Given the description of an element on the screen output the (x, y) to click on. 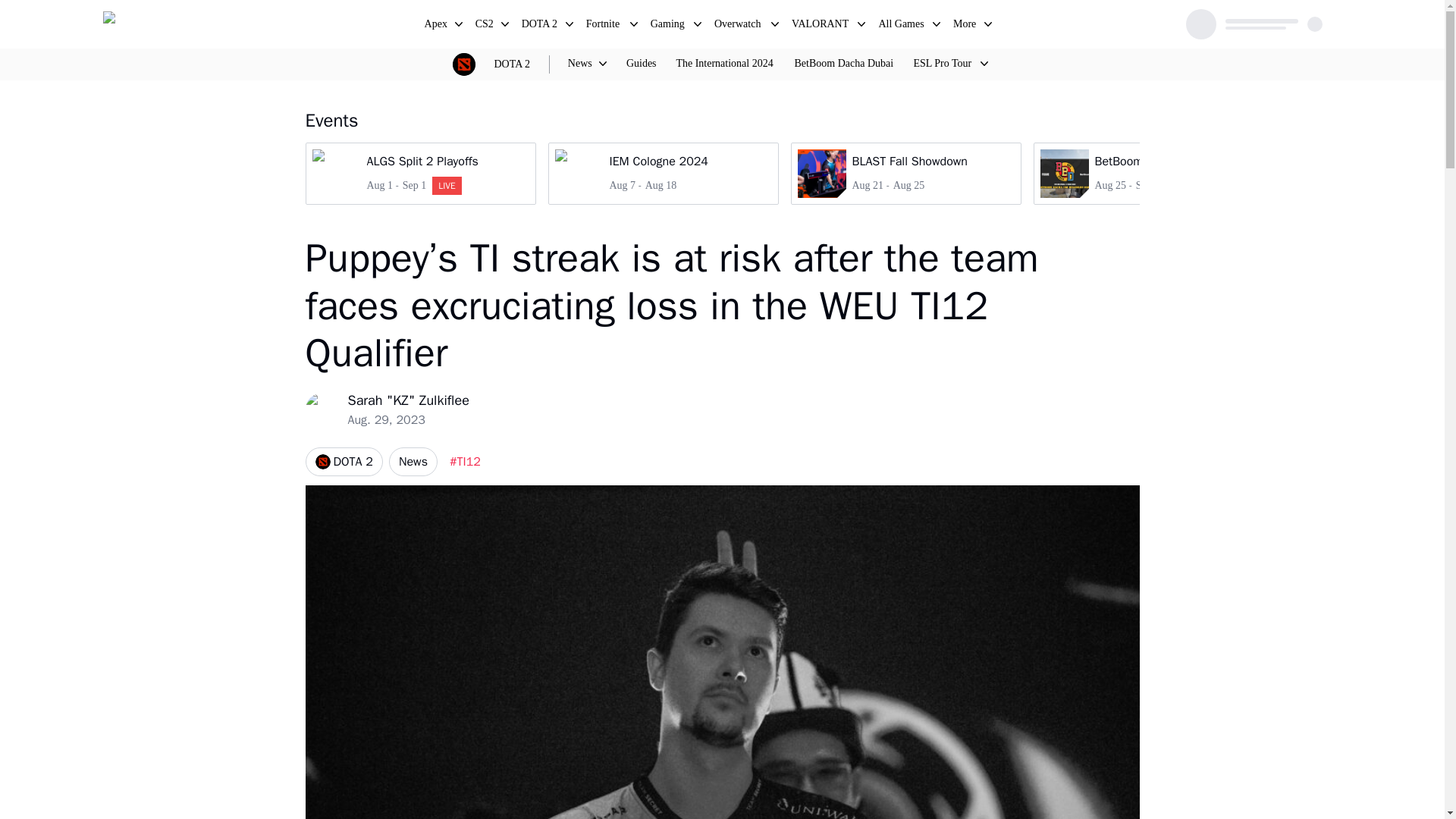
VALORANT (905, 173)
BetBoom Dacha Dubai (821, 25)
Apex (843, 64)
CS2 (436, 25)
Gaming (485, 25)
Guides (668, 25)
CS2 (642, 64)
DOTA 2 (485, 25)
Apex (342, 461)
